Given the description of an element on the screen output the (x, y) to click on. 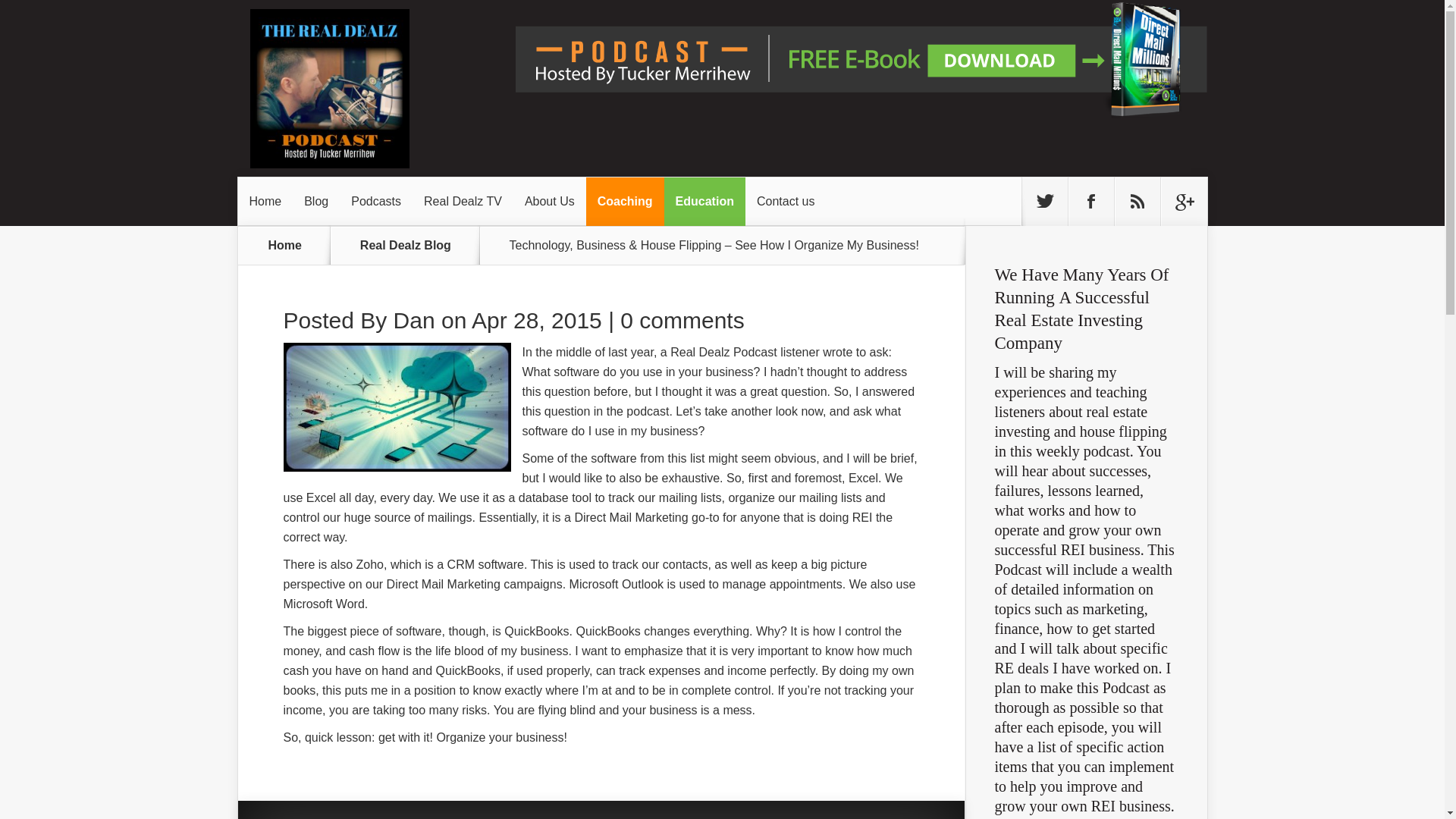
Follow us on Twitter (1044, 201)
Contact us (785, 201)
0 comments (682, 319)
Real Dealz Blog (413, 245)
Dan (414, 319)
About Us (549, 201)
Podcasts (375, 201)
Home (285, 245)
Home (266, 201)
Education (704, 201)
